Given the description of an element on the screen output the (x, y) to click on. 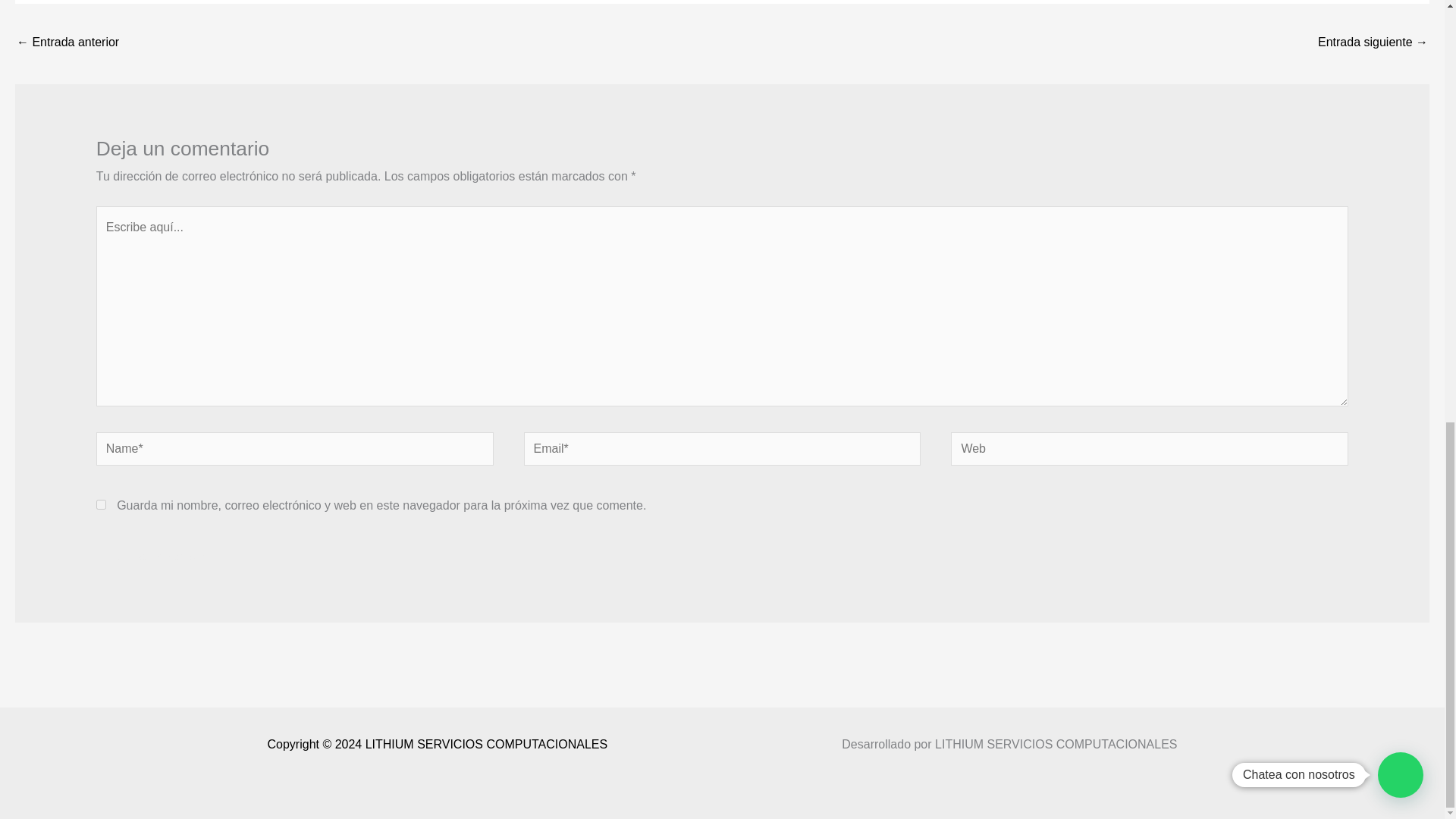
yes (101, 504)
